Given the description of an element on the screen output the (x, y) to click on. 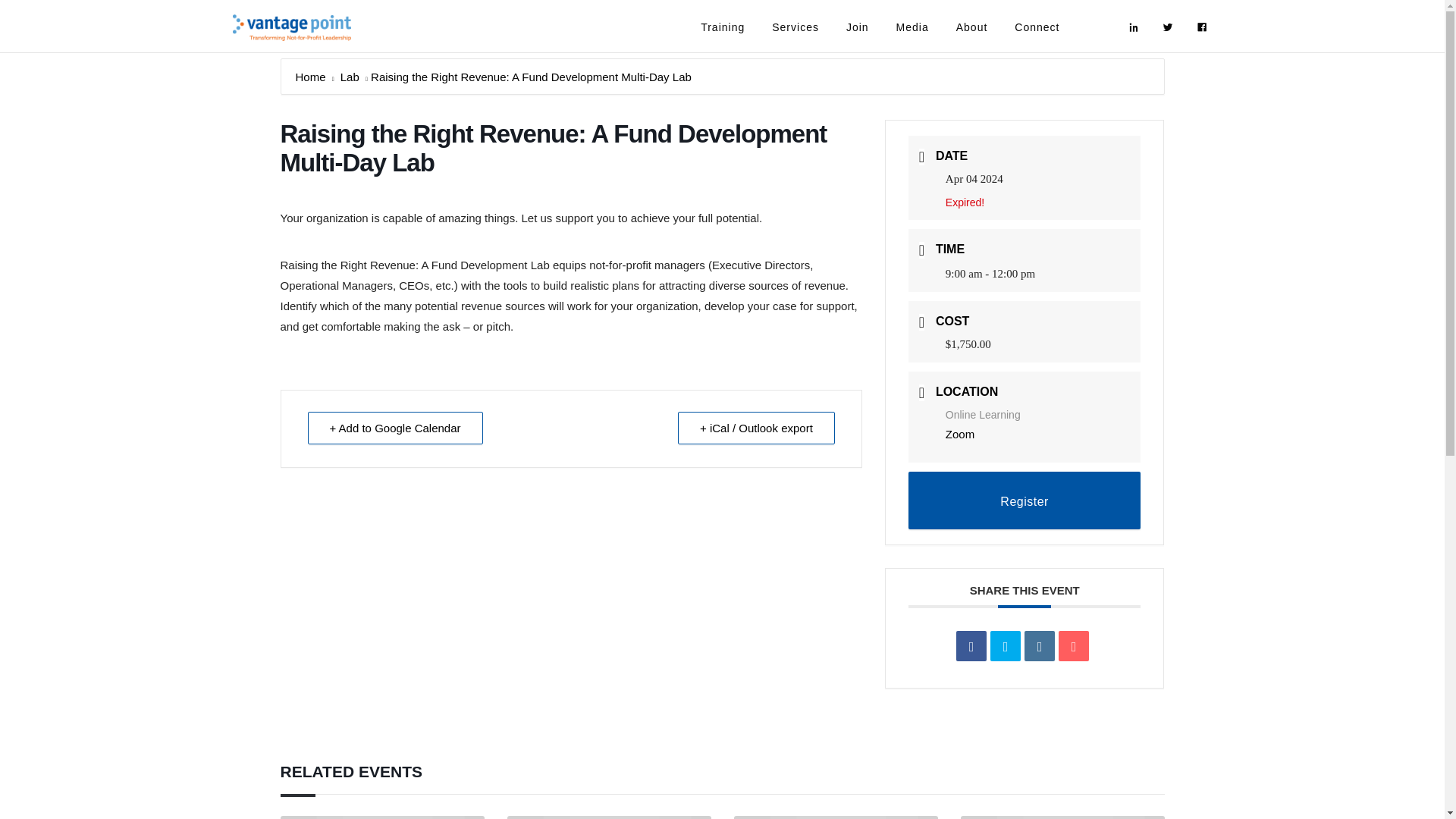
Email (1073, 645)
Linkedin (1039, 645)
Tweet (1005, 645)
Share on Facebook (971, 645)
